Given the description of an element on the screen output the (x, y) to click on. 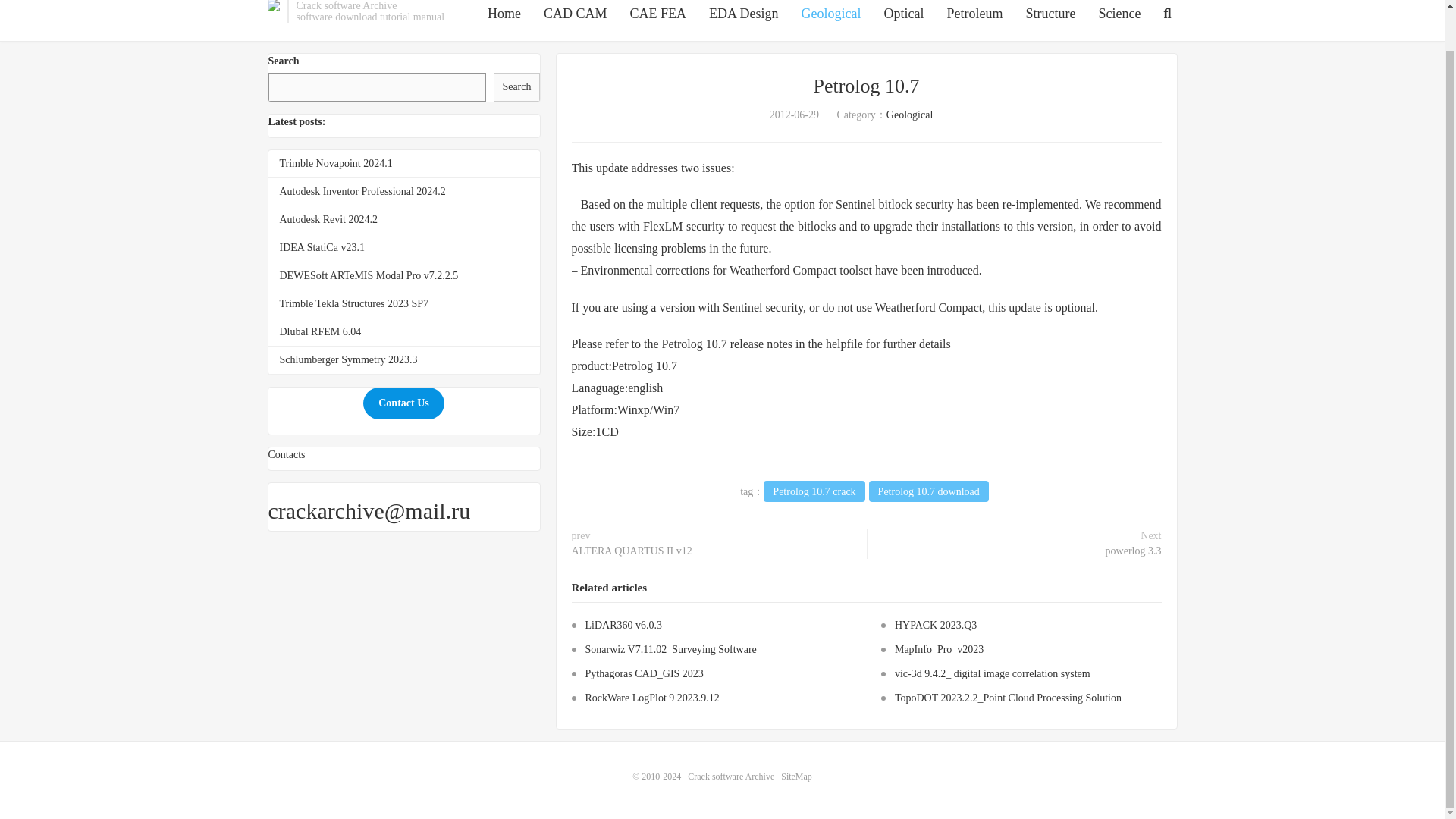
Trimble Tekla Structures 2023 SP7 (353, 303)
DEWESoft ARTeMIS Modal Pro v7.2.2.5 (368, 275)
Crack software Archive (730, 776)
powerlog 3.3 (1133, 550)
Petroleum (975, 14)
Schlumberger Symmetry 2023.3 (347, 359)
CAE FEA (658, 14)
Contact Us (403, 403)
Petrolog 10.7 download (928, 491)
ALTERA QUARTUS II v12 (632, 550)
